Given the description of an element on the screen output the (x, y) to click on. 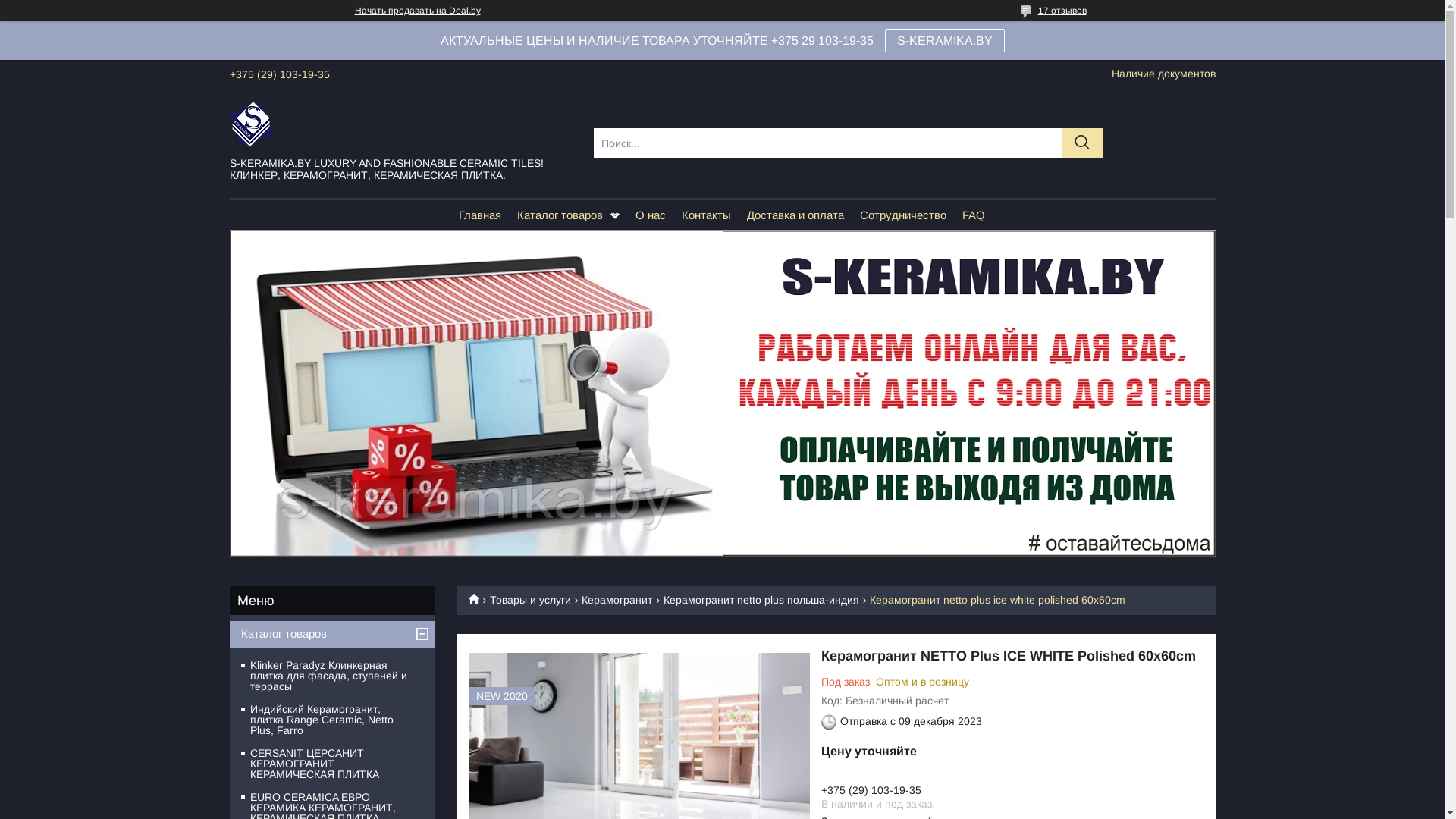
S-KERAMIKA.BY Element type: text (944, 40)
FAQ Element type: text (973, 214)
